Given the description of an element on the screen output the (x, y) to click on. 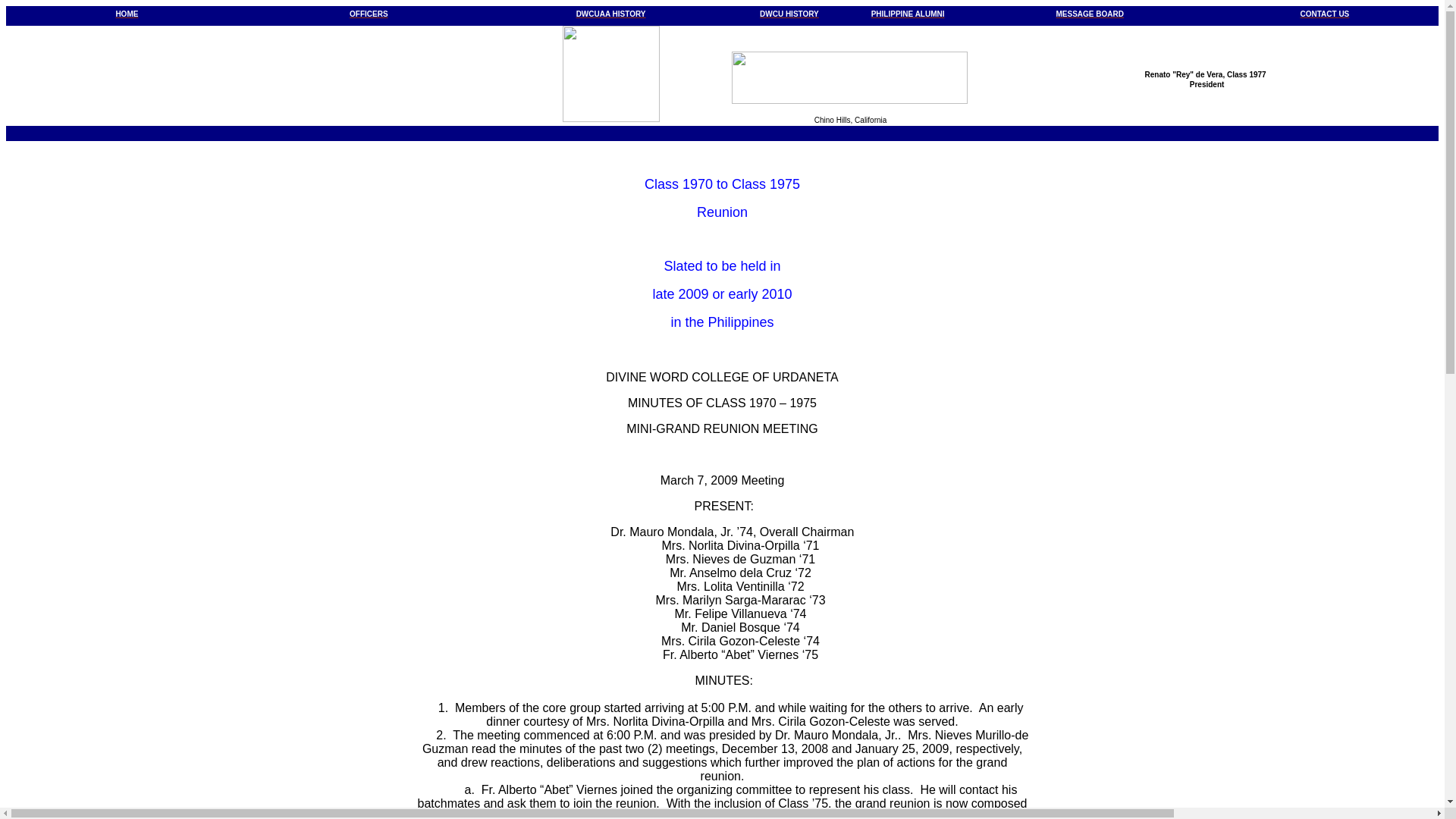
CONTACT US (1324, 11)
DWCUAA HISTORY (611, 11)
HOME (126, 11)
OFFICERS (368, 11)
PHILIPPINE ALUMNI (907, 11)
MESSAGE BOARD (1090, 11)
DWCU HISTORY (789, 11)
